Given the description of an element on the screen output the (x, y) to click on. 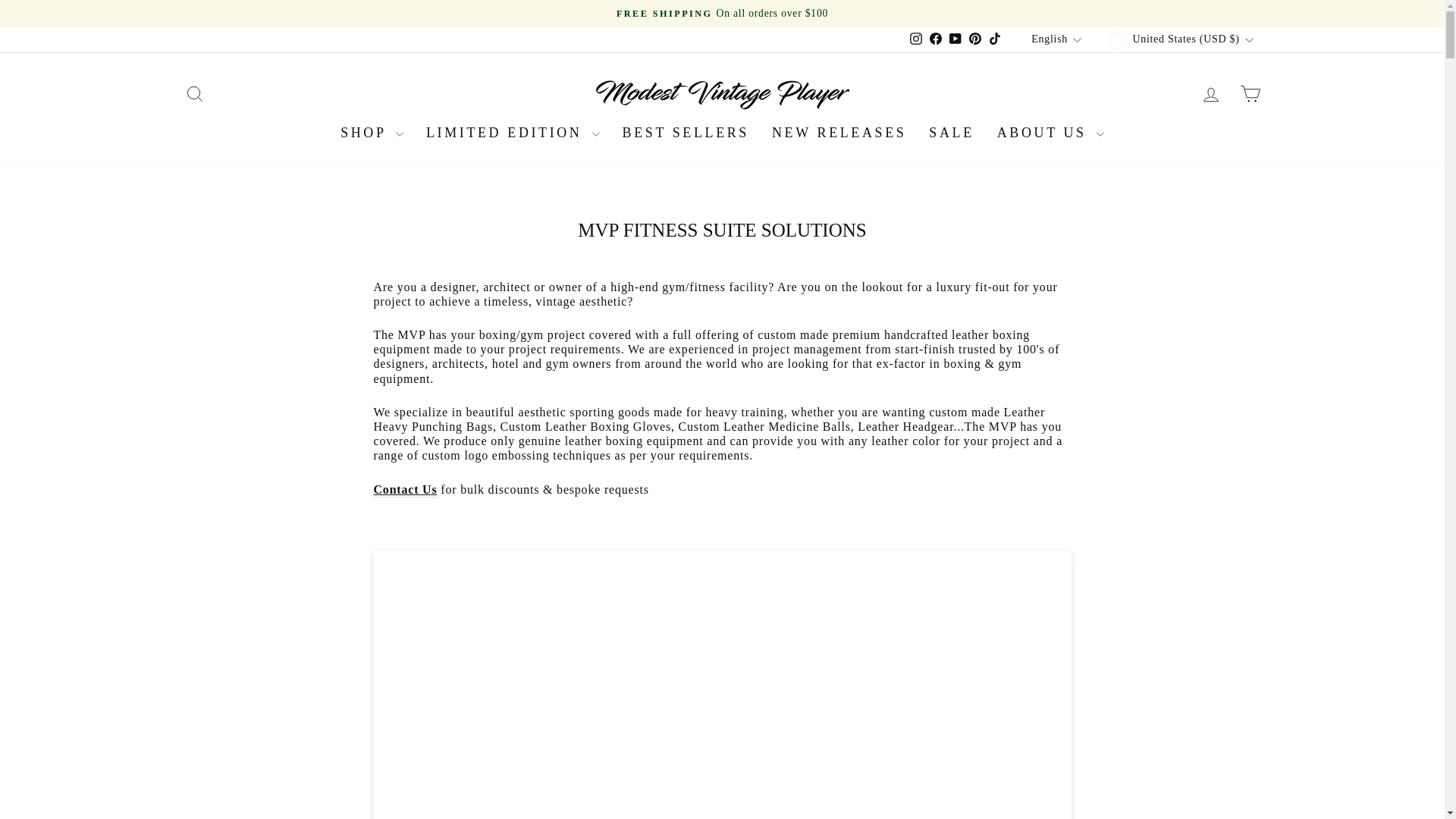
ICON-SEARCH (194, 93)
ACCOUNT (1210, 94)
MODEST VINTAGE PLAYER LTD on Instagram (915, 39)
MODEST VINTAGE PLAYER LTD on Pinterest (975, 39)
MODEST VINTAGE PLAYER LTD on YouTube (954, 39)
MODEST VINTAGE PLAYER LTD on Facebook (935, 39)
instagram (915, 38)
MODEST VINTAGE PLAYER LTD on TikTok (994, 39)
